Given the description of an element on the screen output the (x, y) to click on. 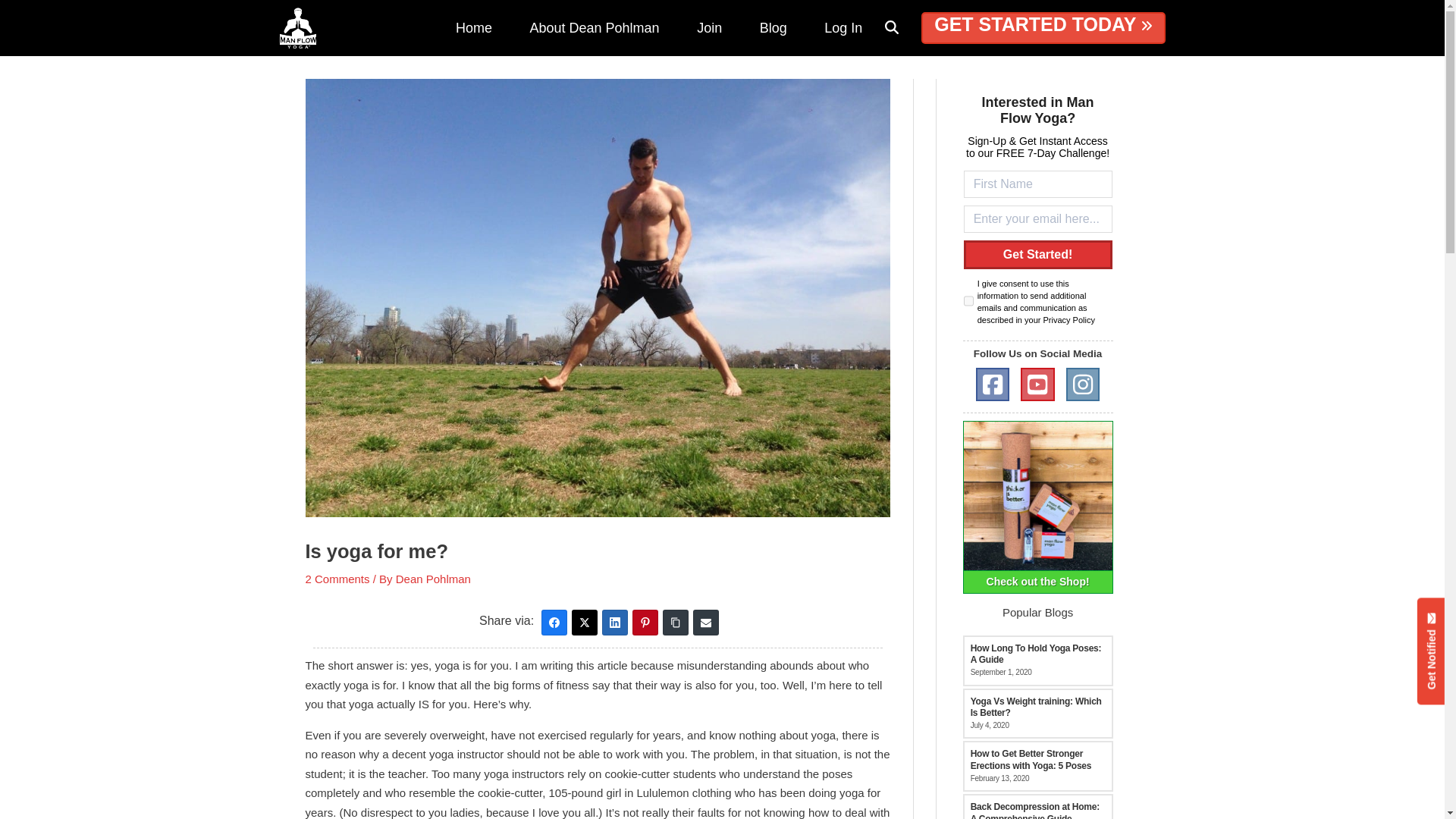
GET STARTED TODAY (1042, 28)
Blog (773, 28)
Home (473, 28)
View all posts by Dean Pohlman (433, 578)
Join (709, 28)
Check out the MFY SHop! (1037, 506)
About Dean Pohlman (594, 28)
Get Started! (1037, 254)
Log In (842, 28)
Check out the Shop! (1037, 506)
2 Comments (336, 578)
on (968, 300)
Dean Pohlman (433, 578)
Get Started! (1037, 254)
